Given the description of an element on the screen output the (x, y) to click on. 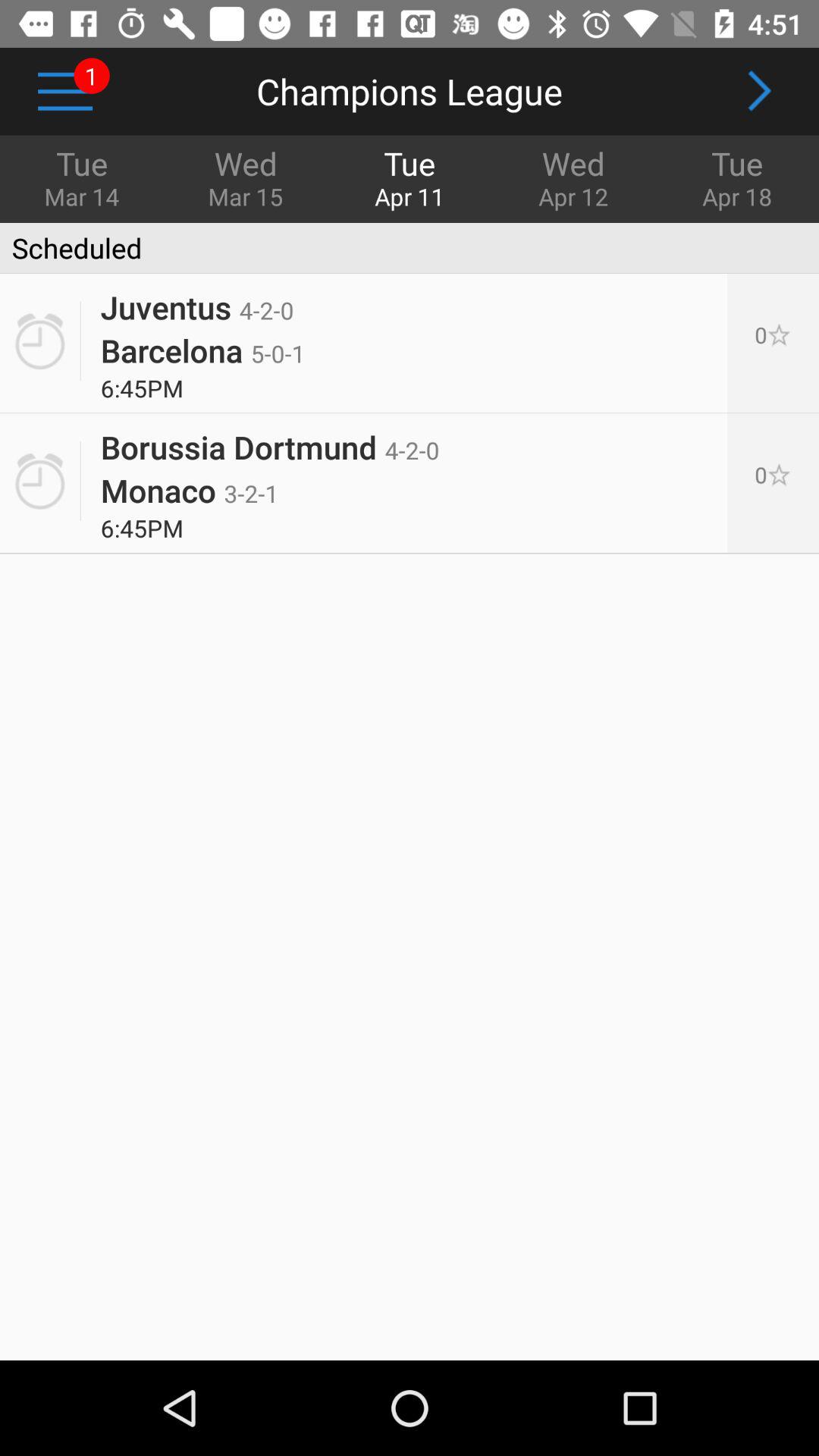
click the icon next to 0[p] icon (269, 440)
